Given the description of an element on the screen output the (x, y) to click on. 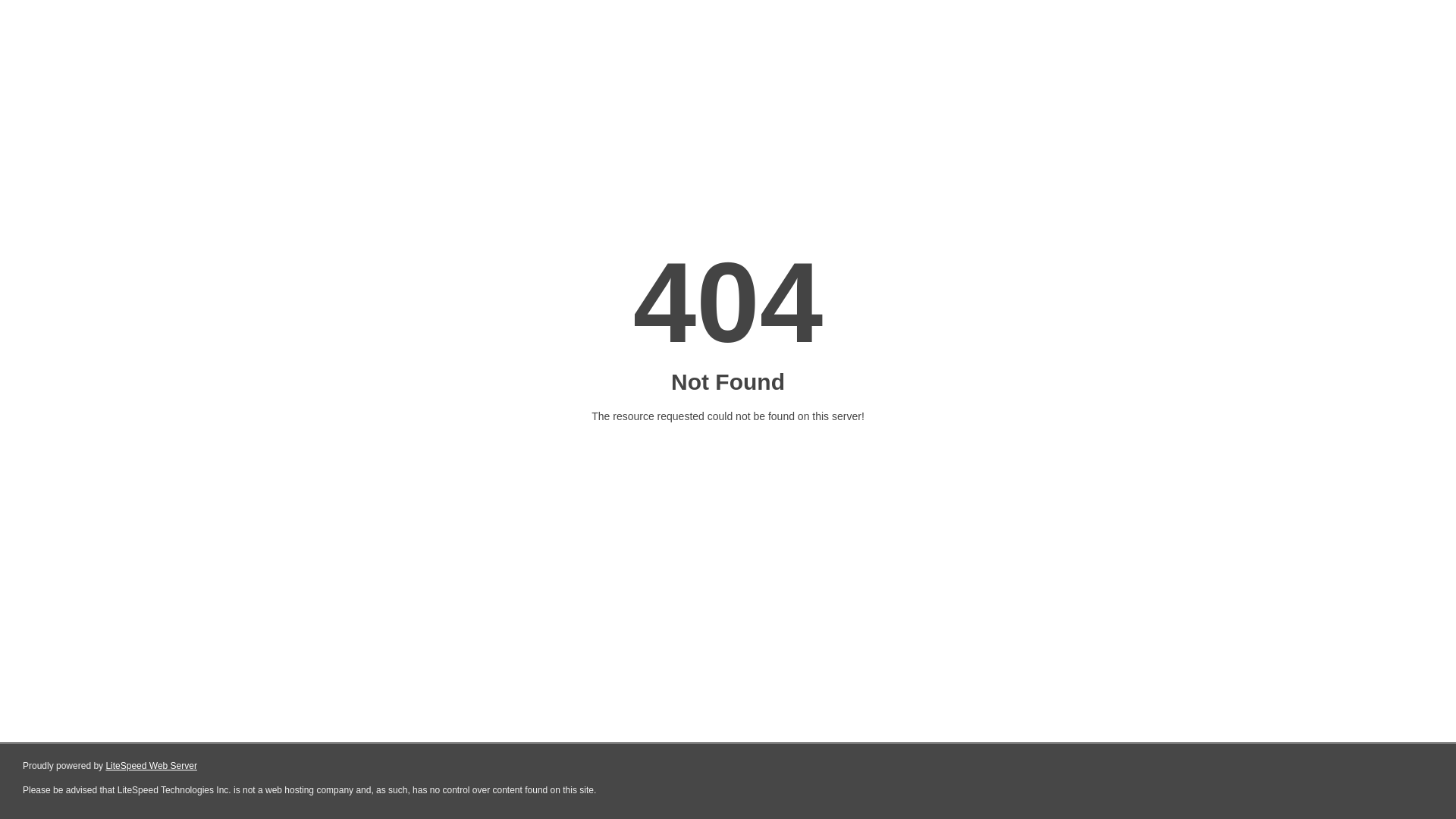
LiteSpeed Web Server Element type: text (151, 765)
